Given the description of an element on the screen output the (x, y) to click on. 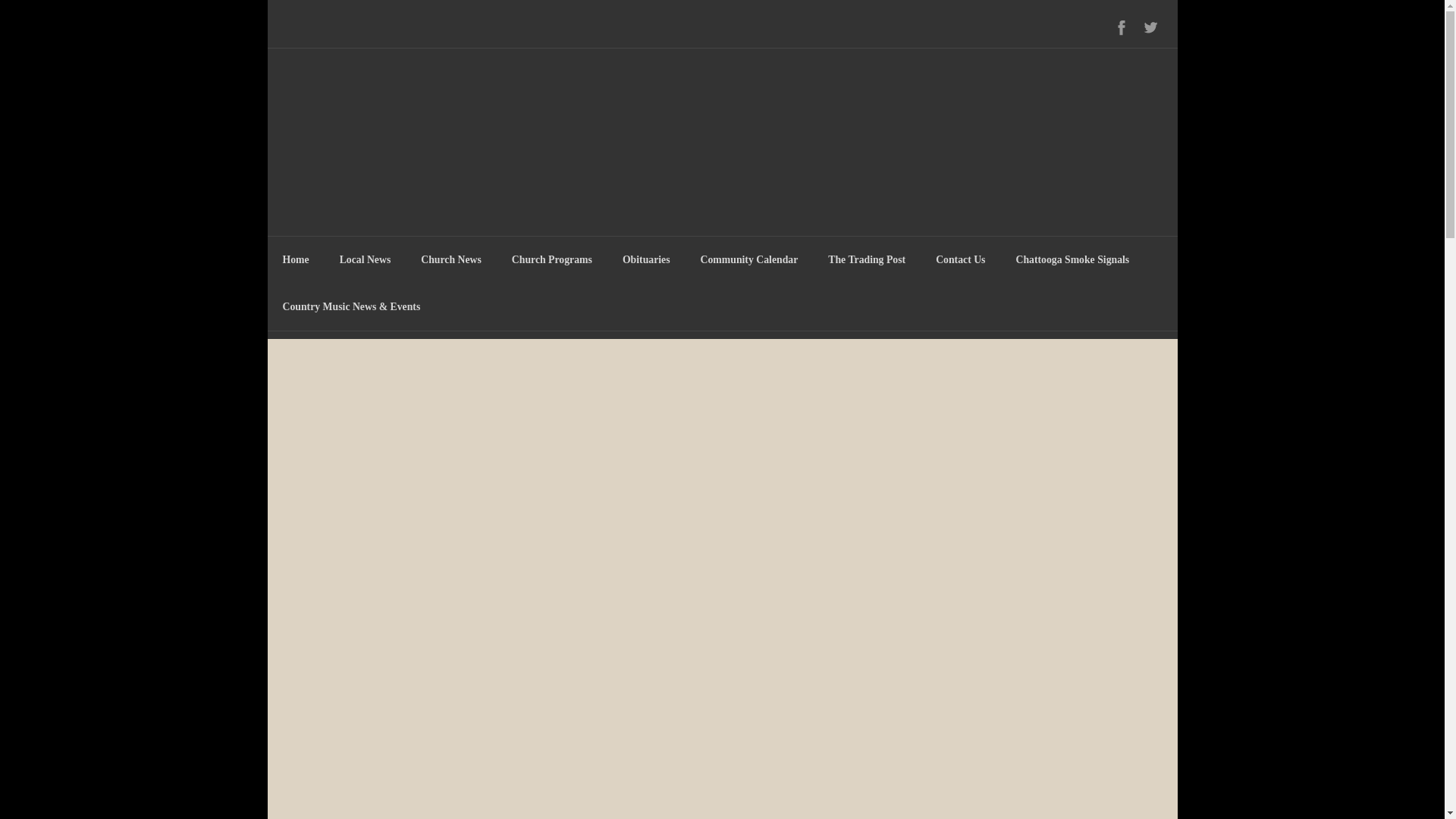
Chattooga Smoke Signals (1072, 259)
Church Programs (551, 259)
The Trading Post (866, 259)
Facebook (1121, 27)
Home (294, 259)
Obituaries (646, 259)
Local News (365, 259)
Contact Us (960, 259)
Church News (451, 259)
Twitter (1149, 27)
